Given the description of an element on the screen output the (x, y) to click on. 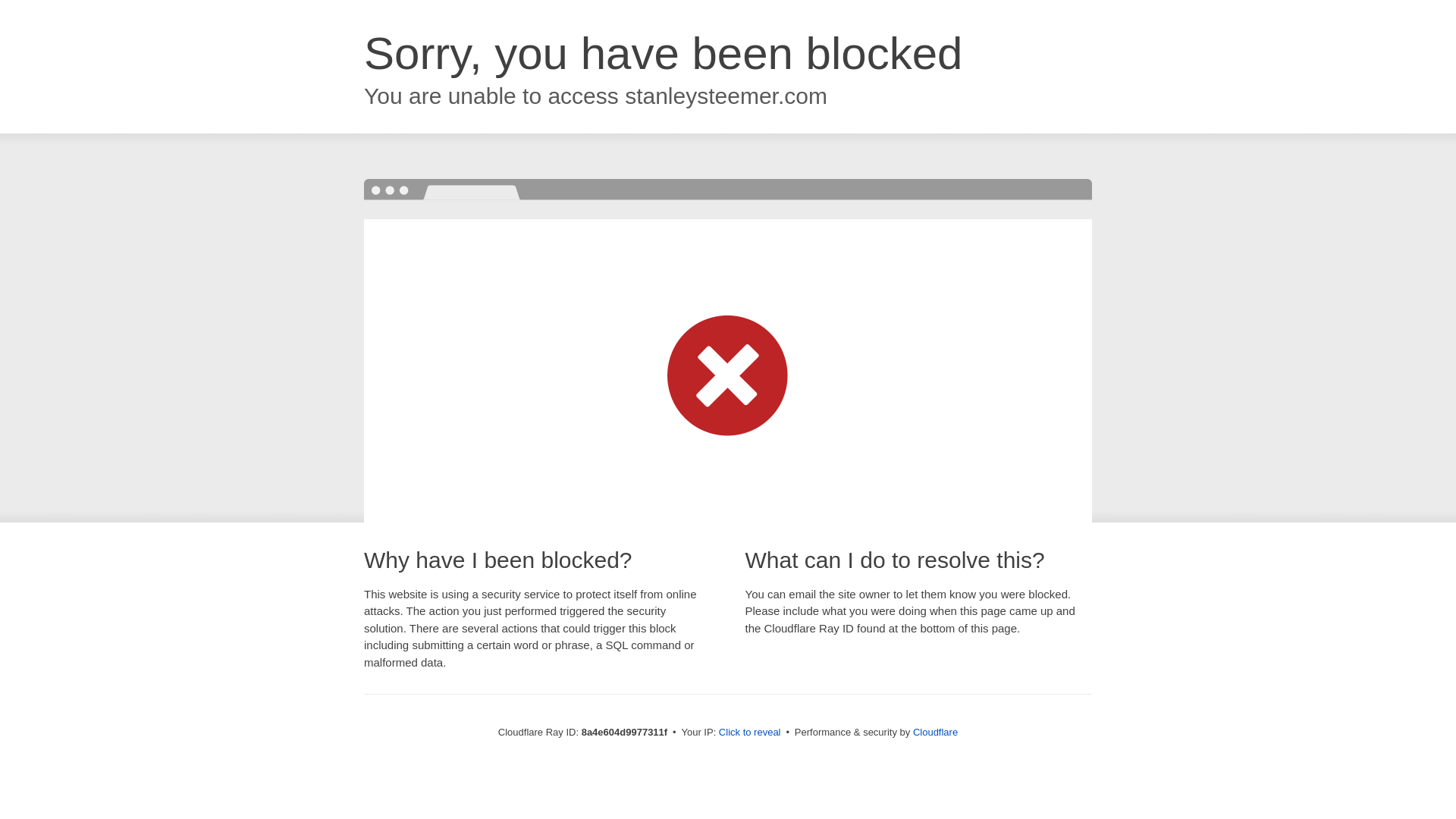
Cloudflare (935, 731)
Click to reveal (749, 732)
